Given the description of an element on the screen output the (x, y) to click on. 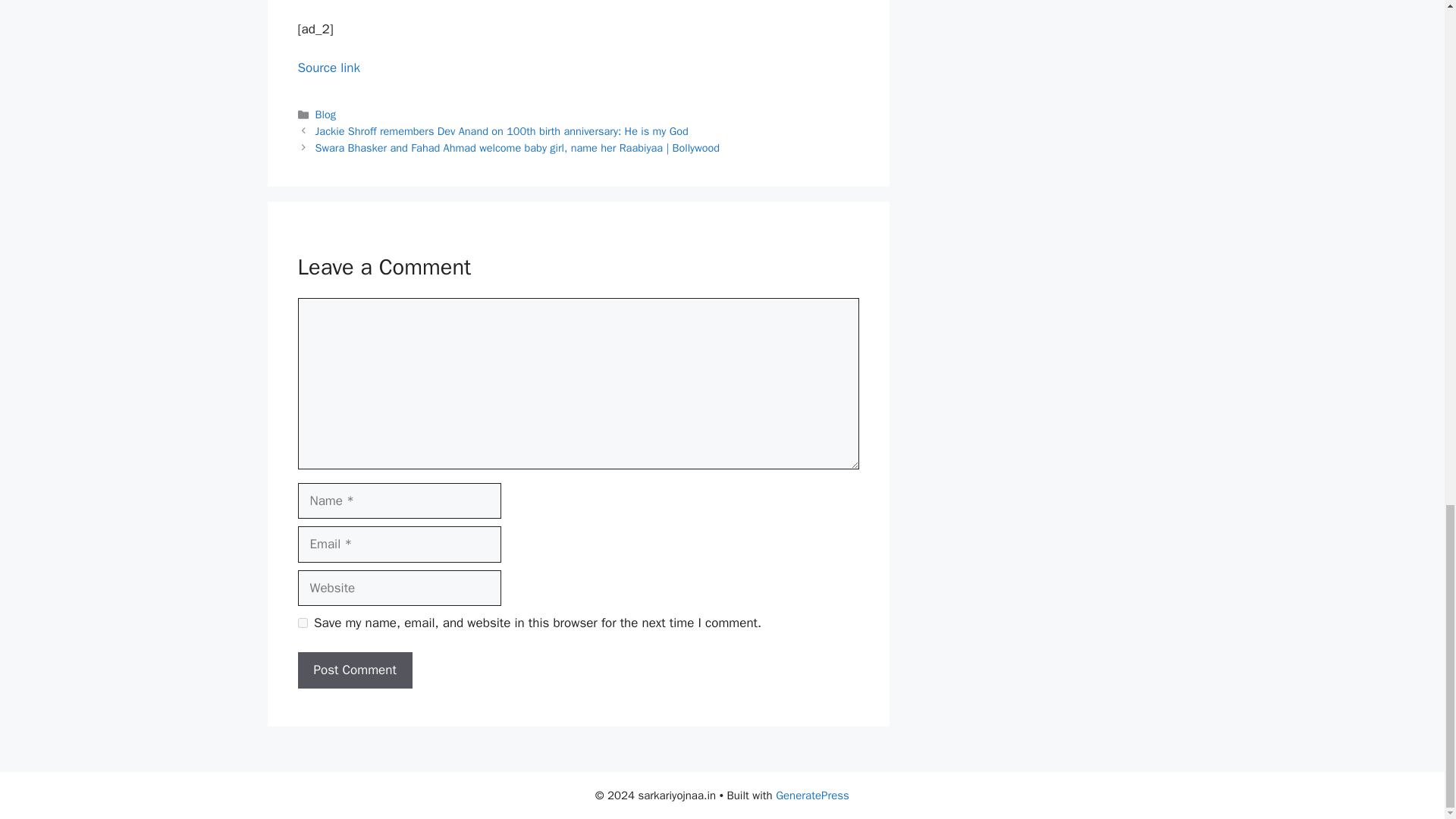
yes (302, 623)
GeneratePress (812, 795)
Blog (325, 114)
Source link (328, 67)
Post Comment (354, 669)
Post Comment (354, 669)
